Given the description of an element on the screen output the (x, y) to click on. 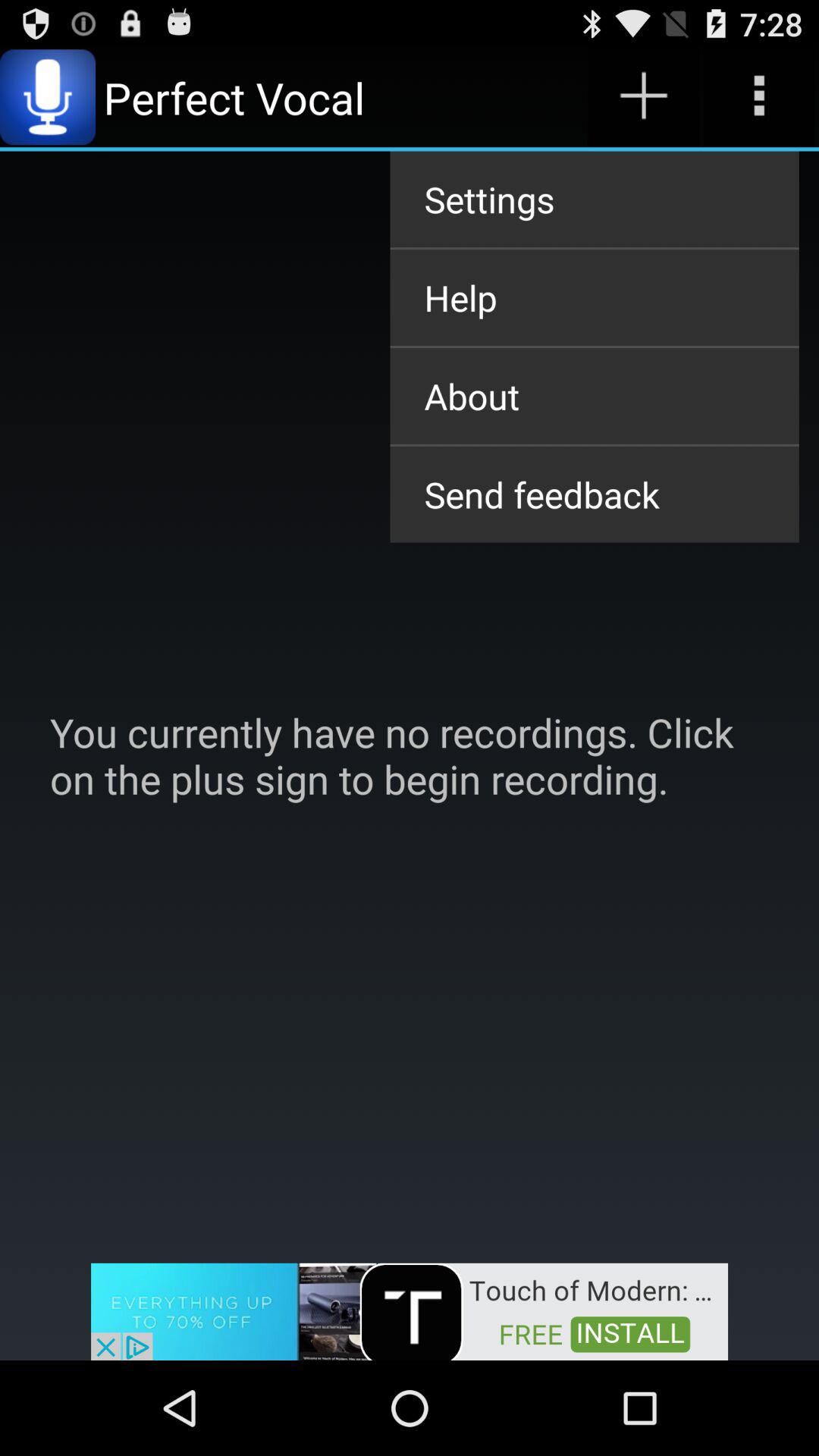
menu page (759, 97)
